Given the description of an element on the screen output the (x, y) to click on. 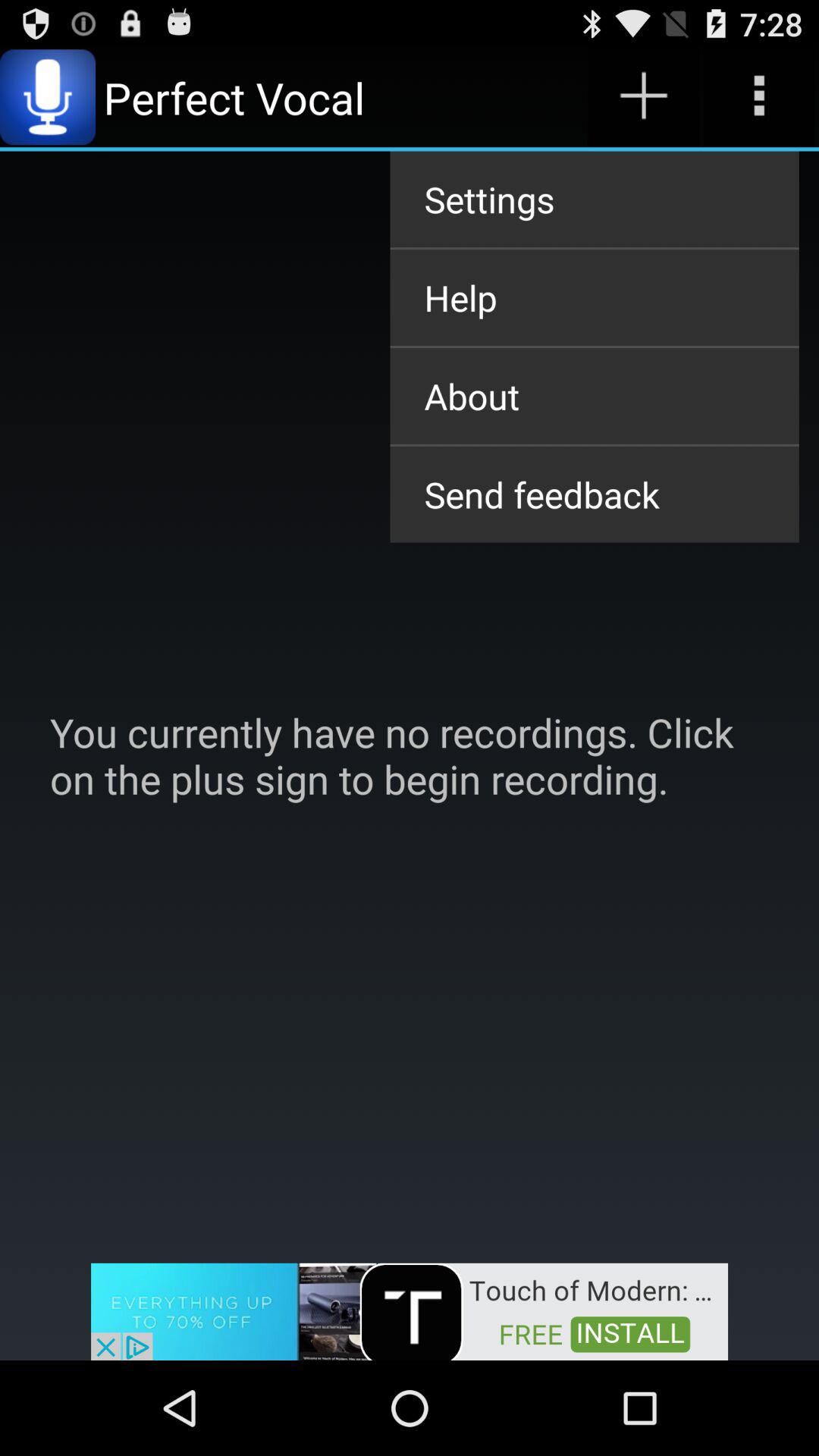
menu page (759, 97)
